Given the description of an element on the screen output the (x, y) to click on. 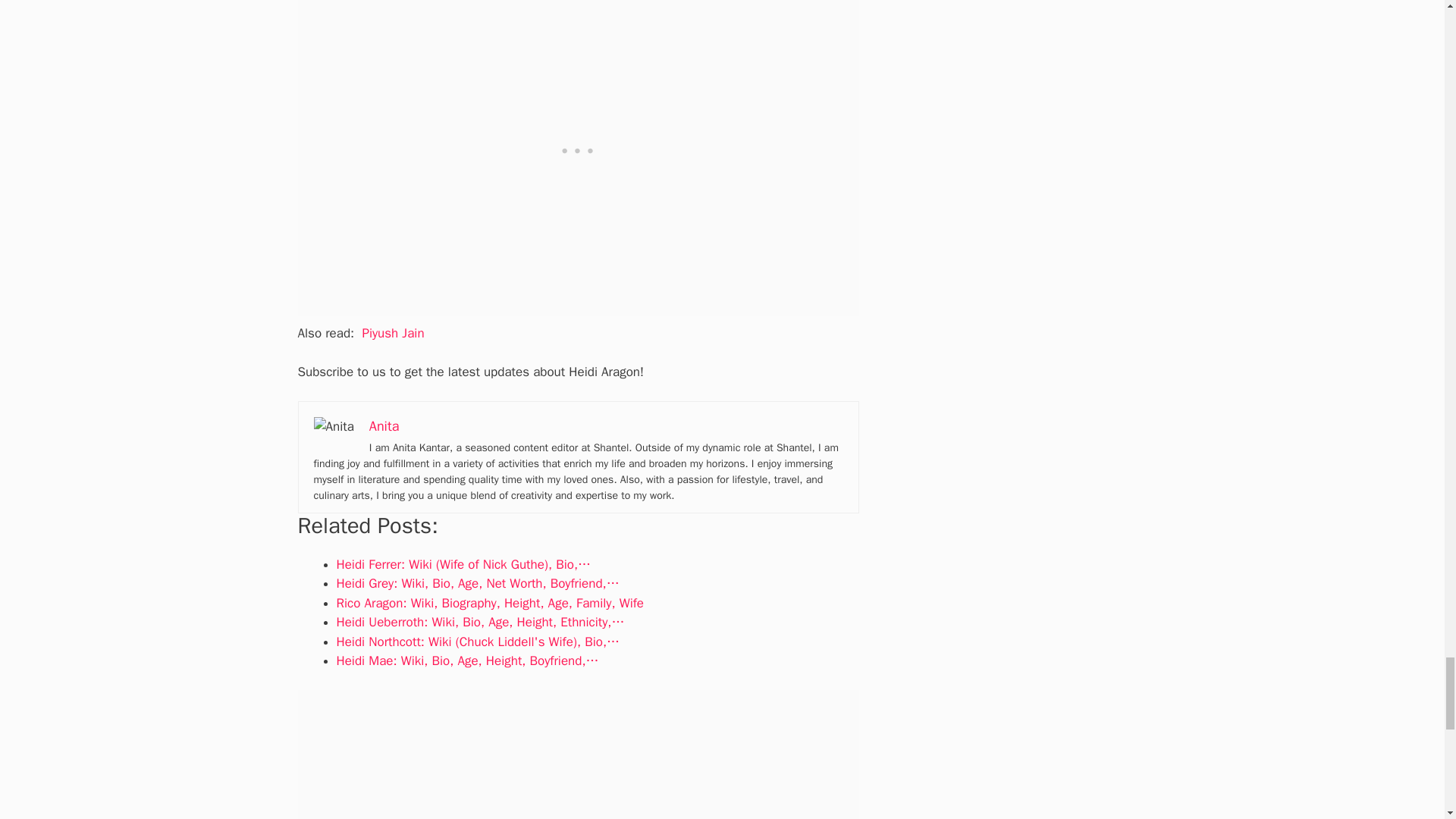
Anita (383, 425)
Piyush Jain (392, 333)
Rico Aragon: Wiki, Biography, Height, Age, Family, Wife (489, 602)
